Given the description of an element on the screen output the (x, y) to click on. 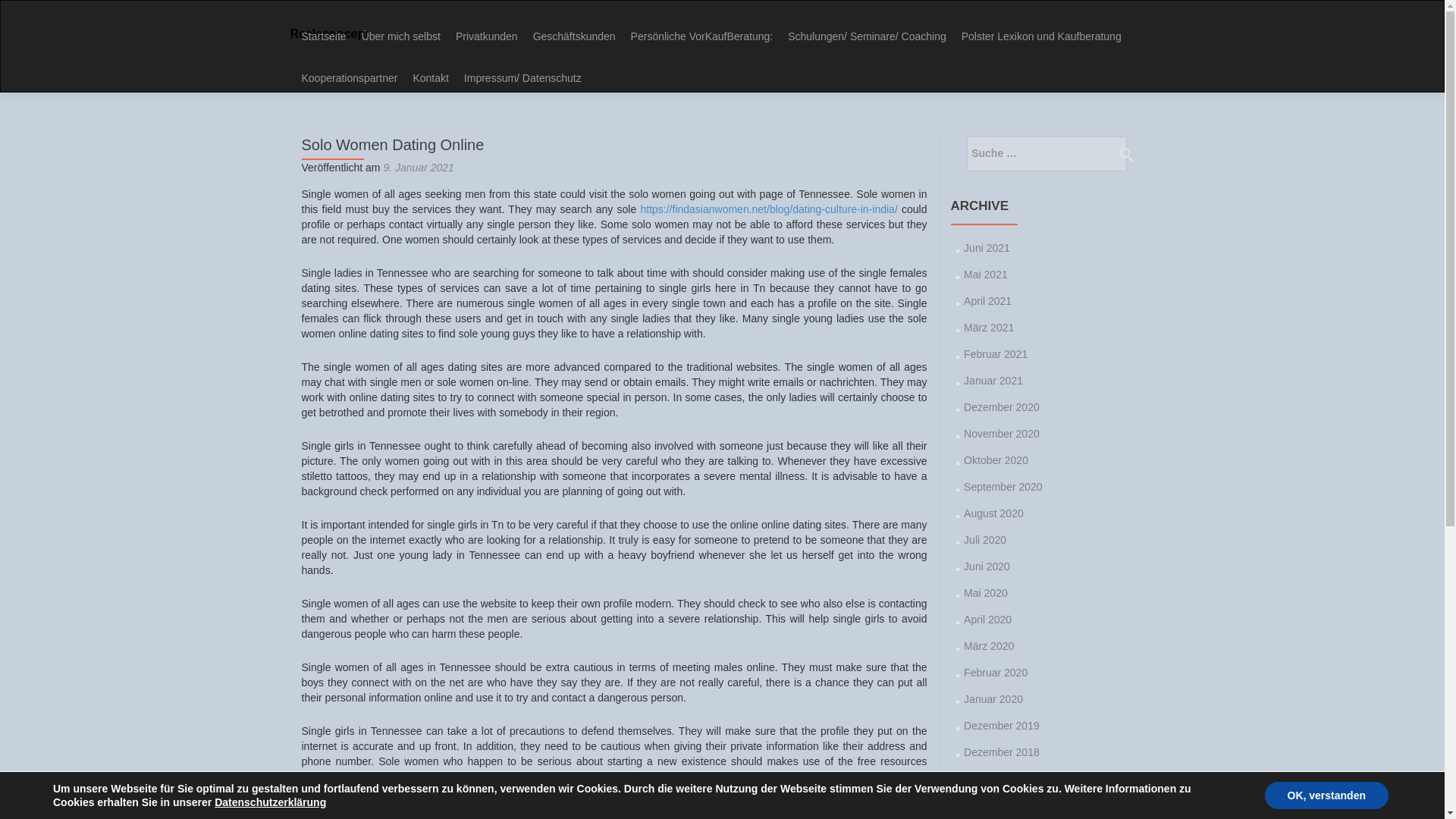
September 2020 (1002, 486)
Reclaconcept (328, 33)
Januar 2020 (993, 698)
9. Januar 2021 (417, 167)
Suche (1125, 153)
Startseite (323, 36)
April 2021 (987, 300)
Suche (1125, 153)
Mai 2020 (985, 592)
Januar 2021 (993, 380)
Oktober 2020 (995, 460)
Suche (1125, 153)
Dezember 2019 (1001, 725)
November 2020 (1001, 433)
